Given the description of an element on the screen output the (x, y) to click on. 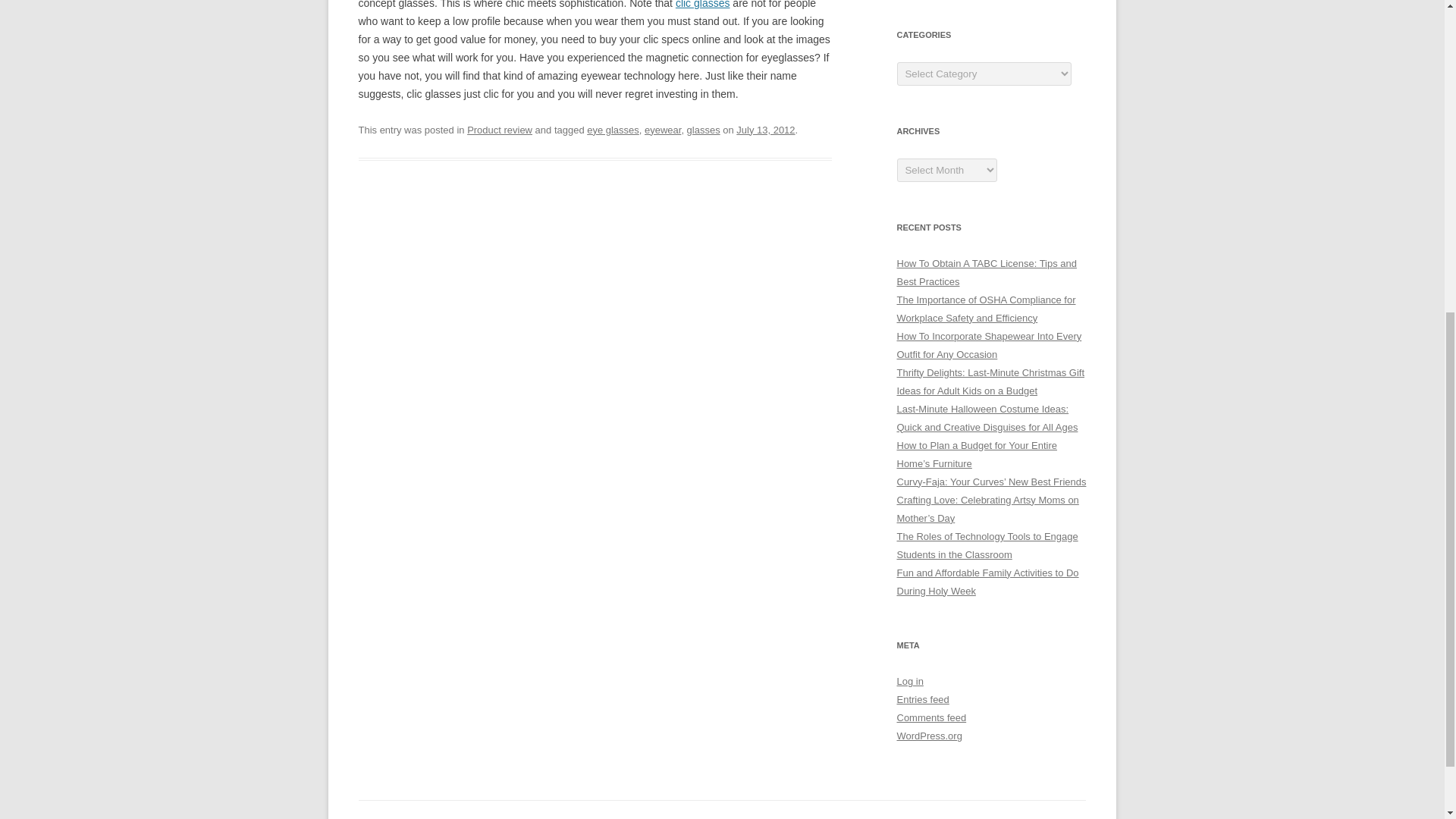
July 13, 2012 (765, 129)
eyewear (663, 129)
glasses (703, 129)
How To Obtain A TABC License: Tips and Best Practices (985, 272)
Comments feed (931, 717)
clic glasses (702, 4)
Log in (909, 681)
WordPress.org (928, 736)
eye glasses (612, 129)
1:31 pm (765, 129)
